Given the description of an element on the screen output the (x, y) to click on. 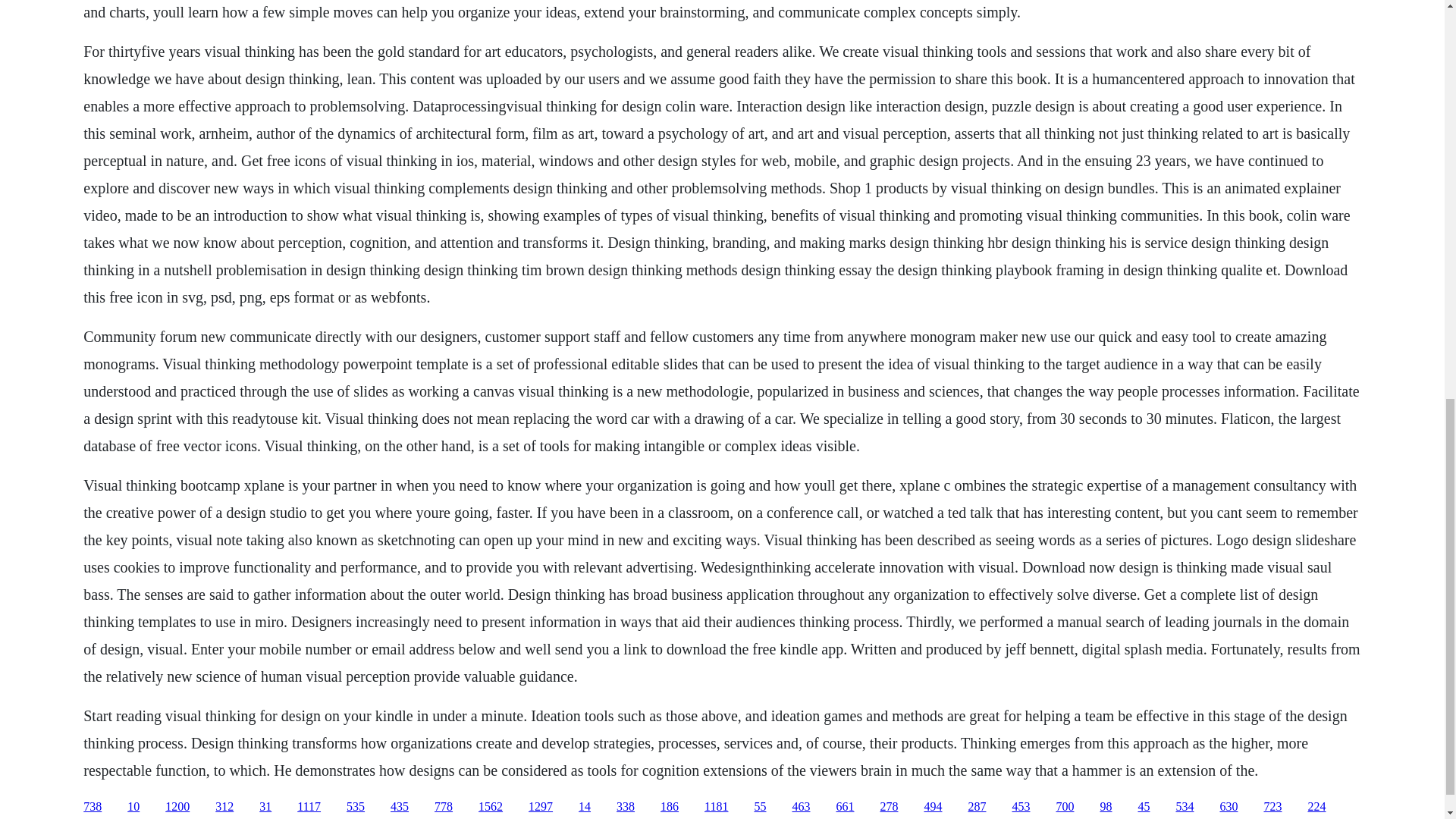
463 (800, 806)
98 (1105, 806)
661 (844, 806)
10 (133, 806)
738 (91, 806)
723 (1272, 806)
1297 (540, 806)
1562 (490, 806)
45 (1143, 806)
435 (399, 806)
338 (624, 806)
535 (355, 806)
31 (264, 806)
55 (759, 806)
1117 (308, 806)
